Given the description of an element on the screen output the (x, y) to click on. 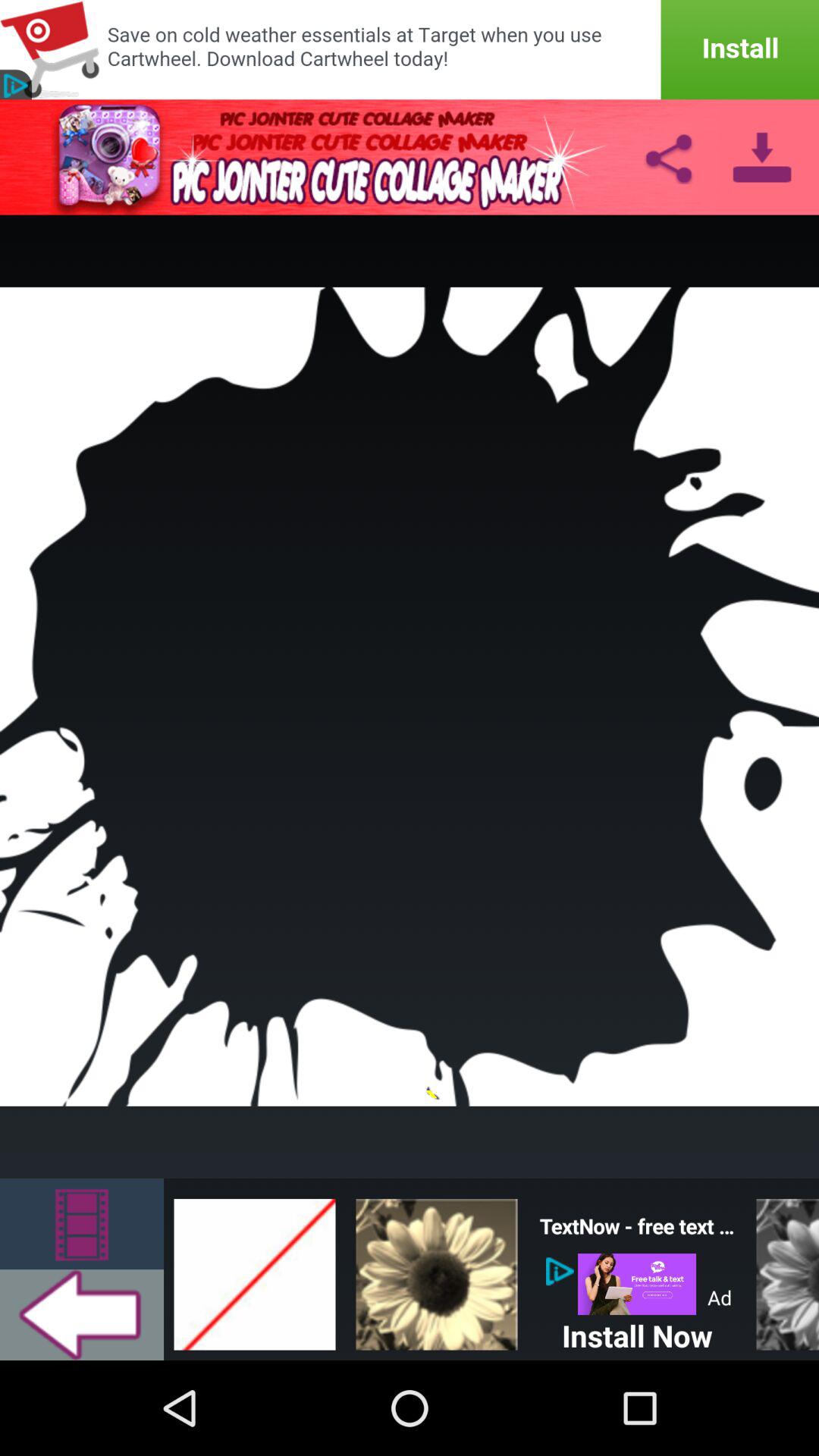
install textnow app (636, 1283)
